Given the description of an element on the screen output the (x, y) to click on. 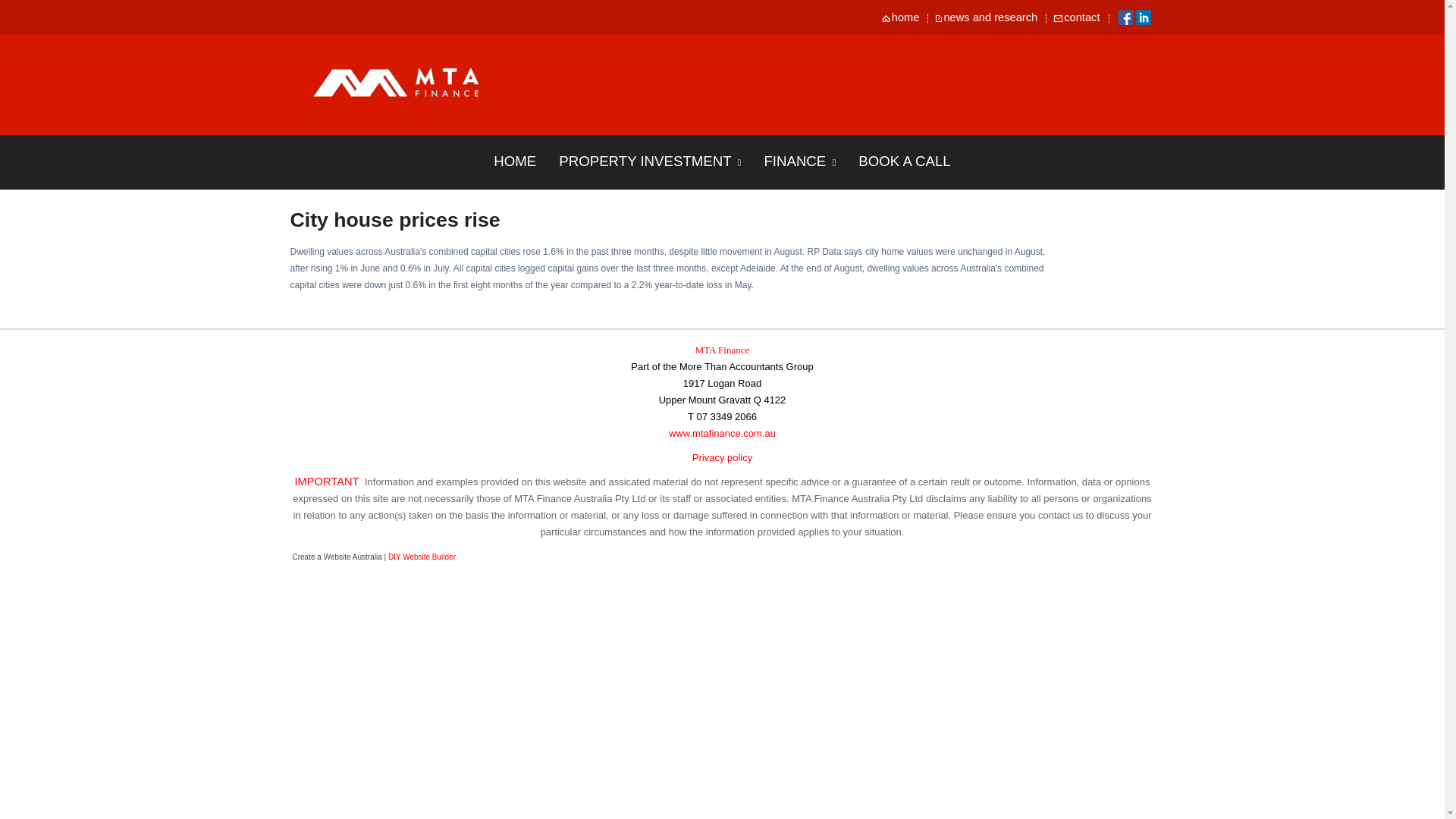
news and research (991, 17)
PROPERTY INVESTMENT (649, 161)
BOOK A CALL (903, 161)
FINANCE (799, 161)
home (906, 17)
contact (1082, 17)
HOME (514, 161)
www.mtafinance.com.au (722, 432)
